Given the description of an element on the screen output the (x, y) to click on. 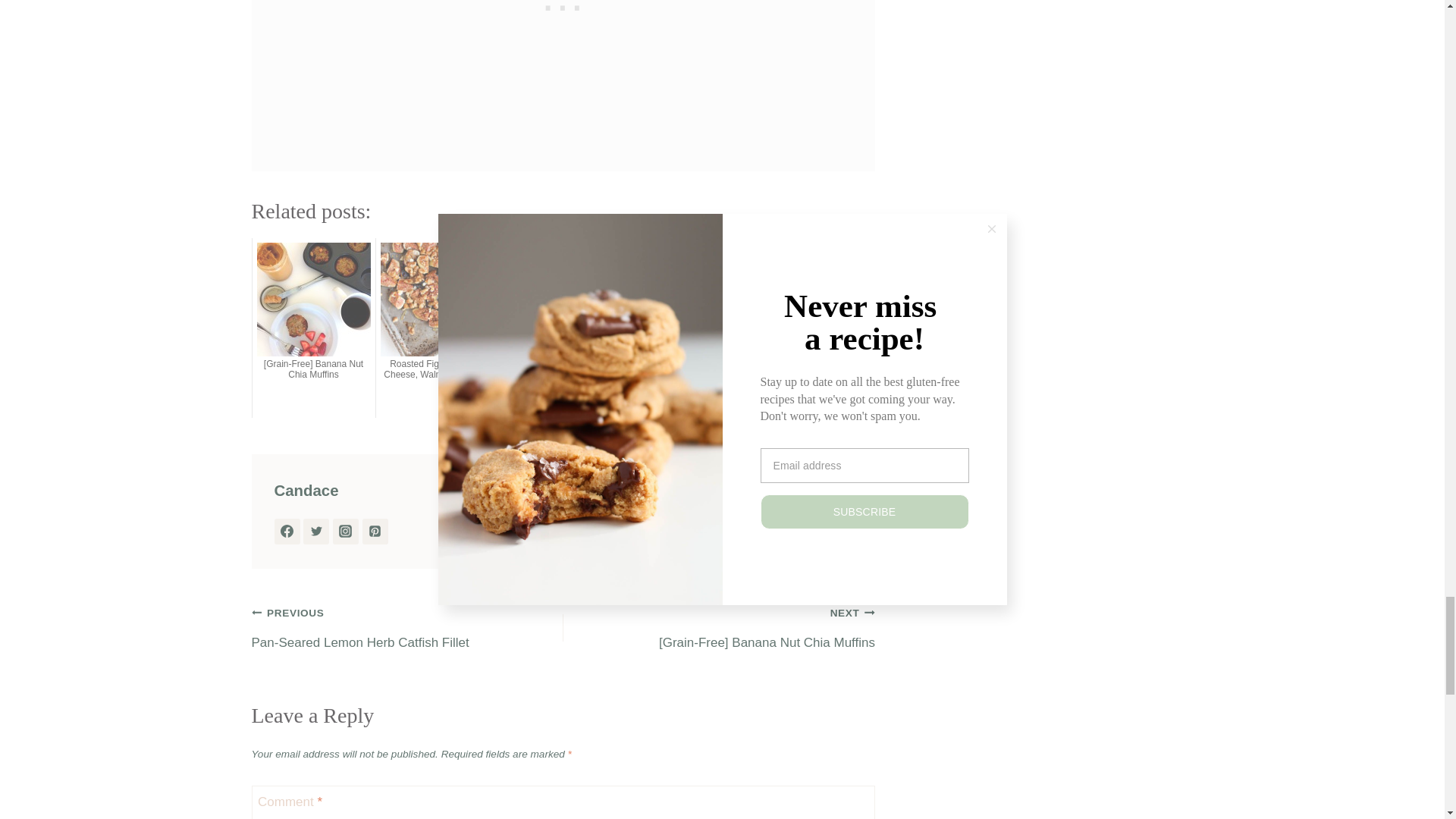
Follow Candace on Twitter (315, 531)
Follow Candace on Instagram (345, 531)
Follow Candace on Pinterest (375, 531)
Follow Candace on Facebook (287, 531)
